Given the description of an element on the screen output the (x, y) to click on. 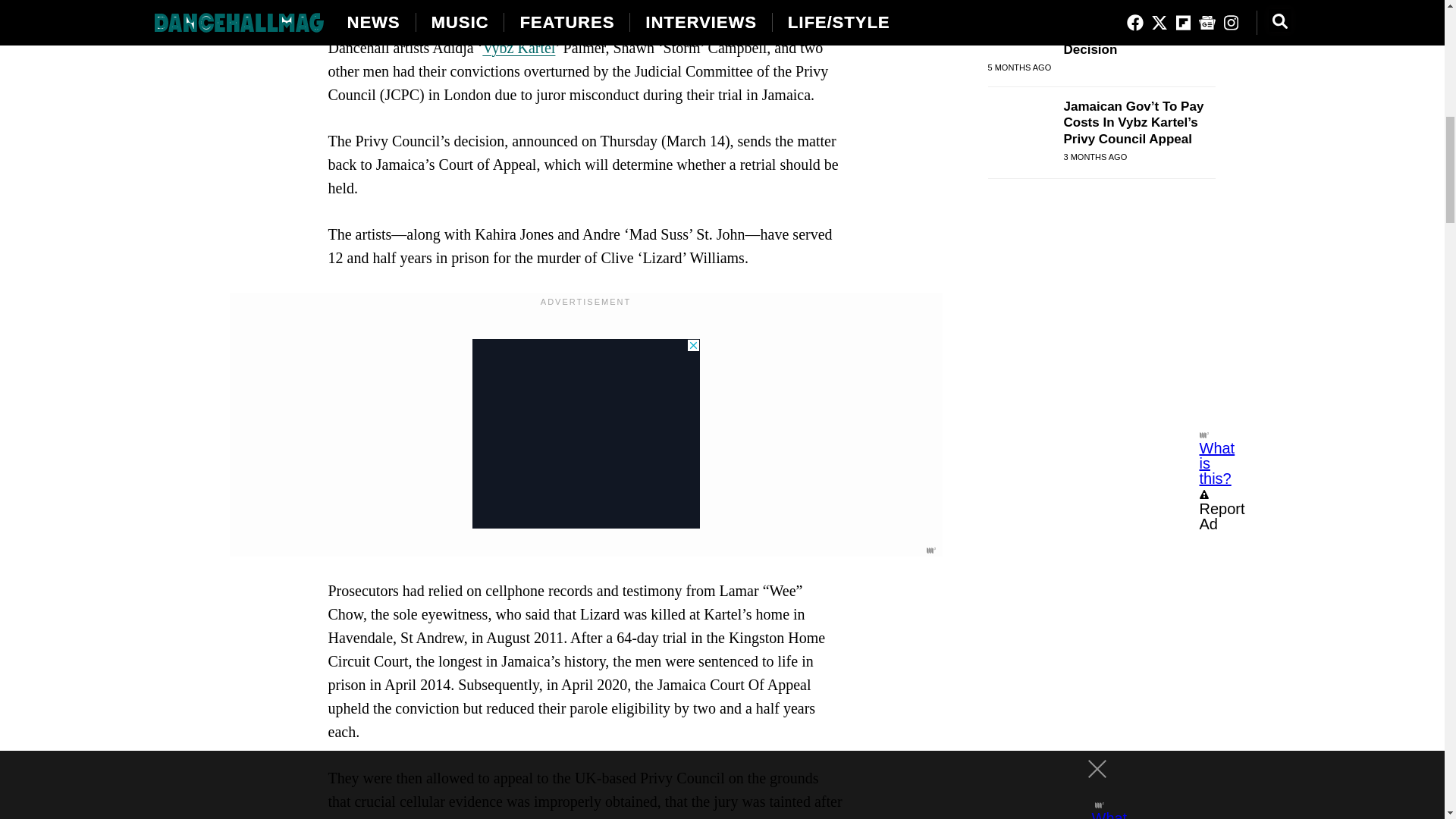
Vybz Kartel (517, 47)
3rd party ad content (584, 433)
